Given the description of an element on the screen output the (x, y) to click on. 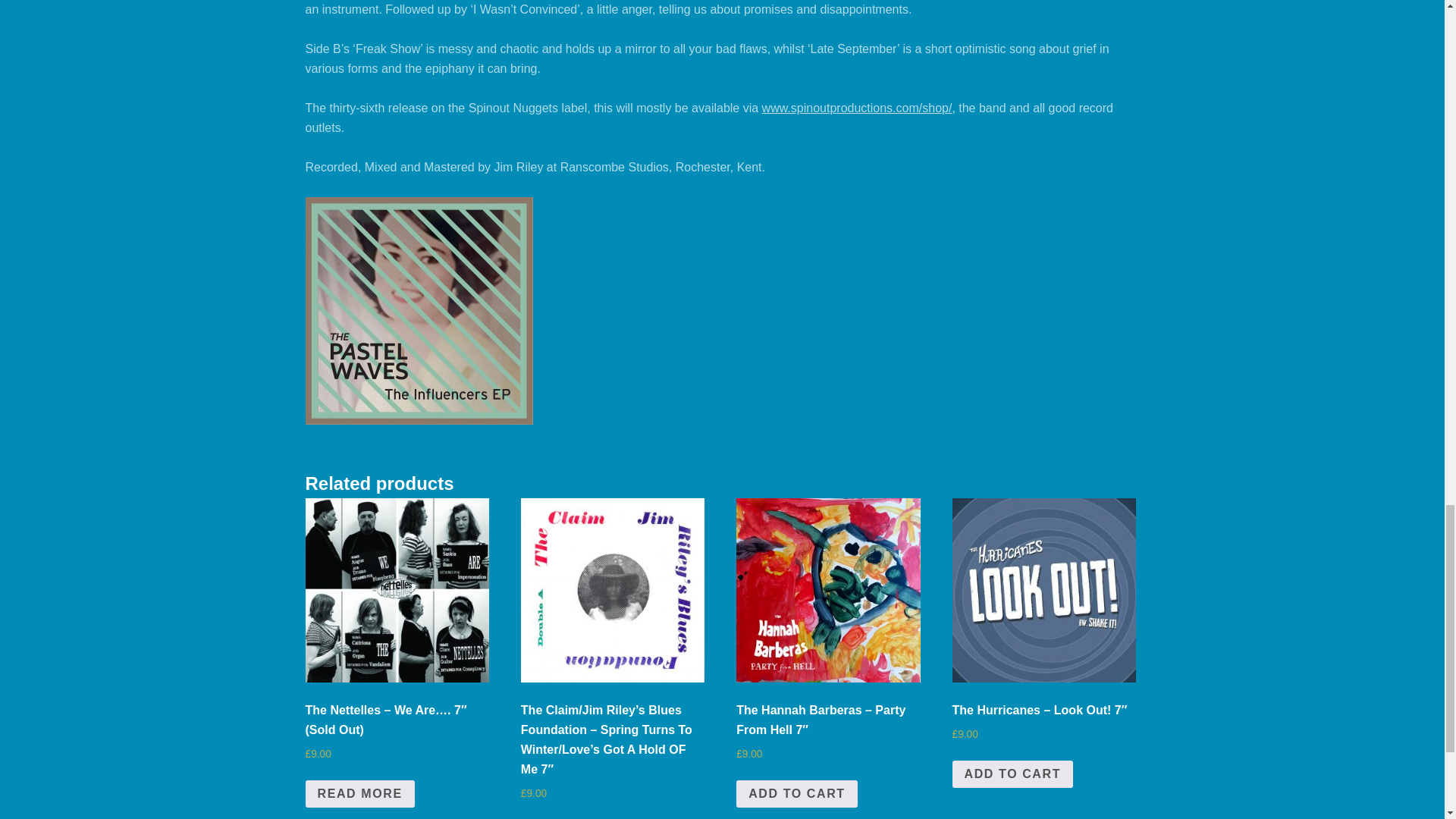
Page 1 (721, 69)
READ MORE (358, 793)
